Given the description of an element on the screen output the (x, y) to click on. 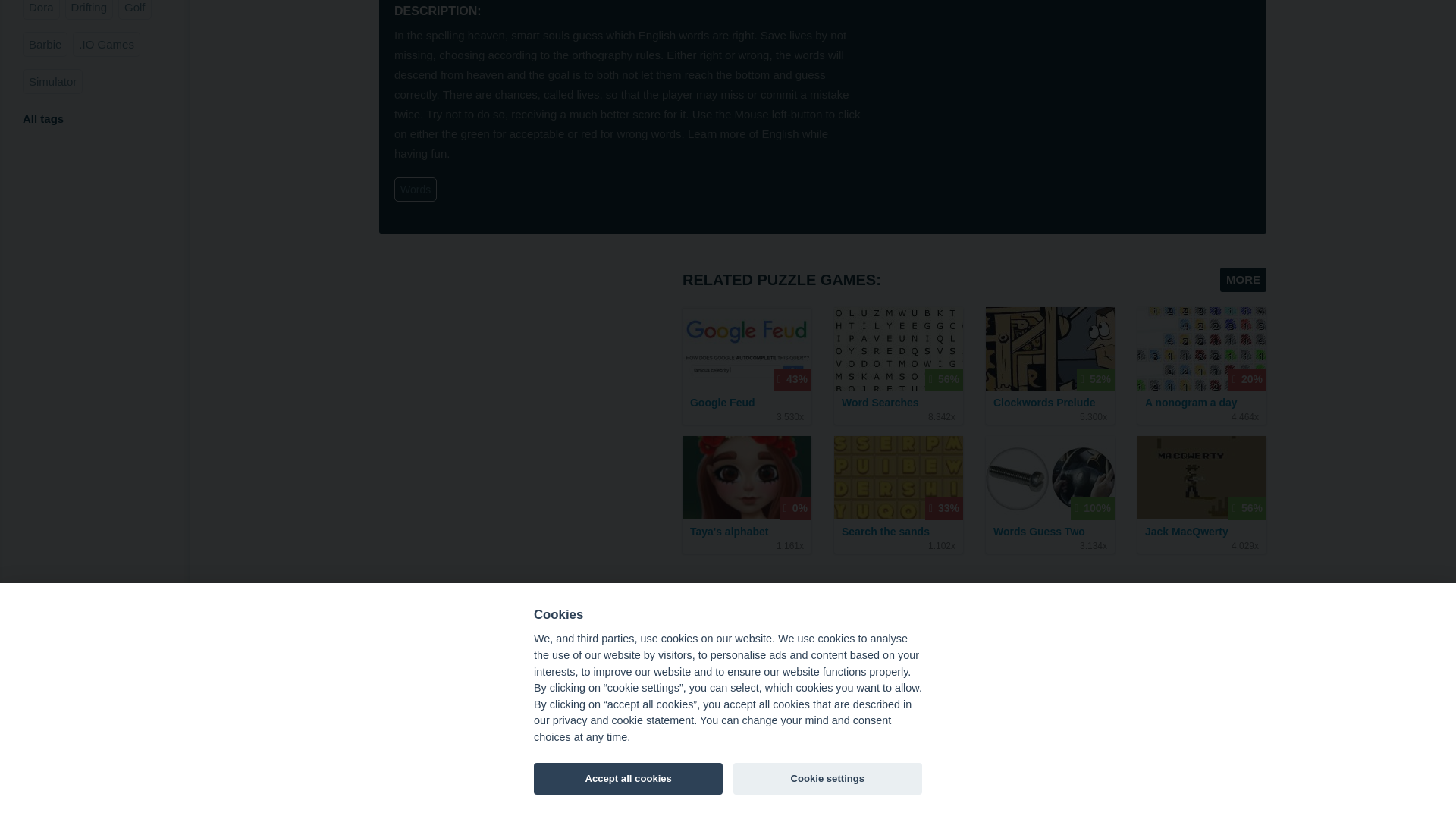
Golf (134, 9)
Dora (41, 9)
Drifting (89, 9)
